Given the description of an element on the screen output the (x, y) to click on. 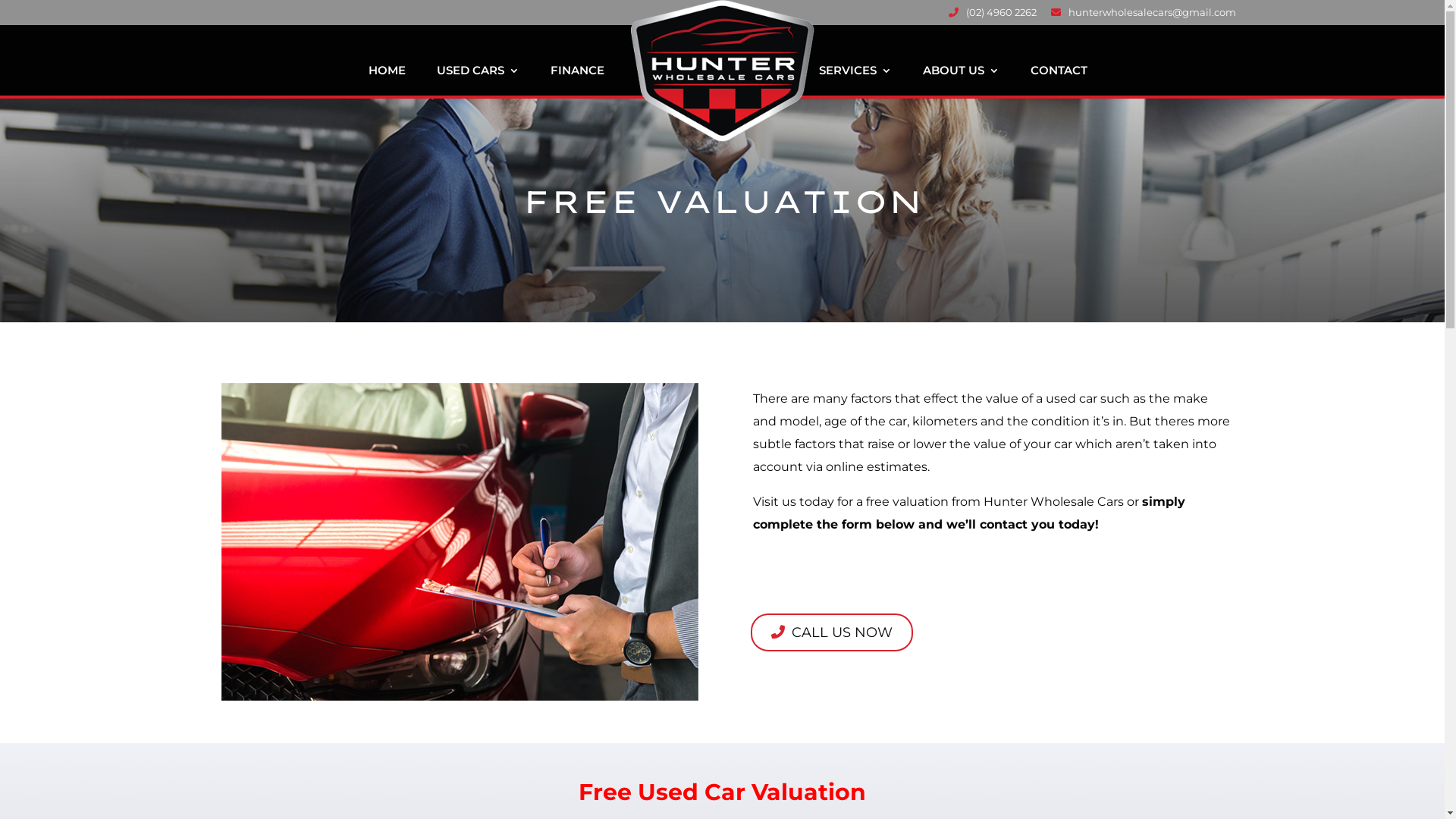
SERVICES Element type: text (855, 82)
USED CARS Element type: text (477, 82)
FINANCE Element type: text (577, 82)
ABOUT US Element type: text (960, 82)
CALL US NOW Element type: text (831, 632)
hunterwholesalecars@gmail.com Element type: text (1143, 16)
(02) 4960 2262 Element type: text (991, 16)
HOME Element type: text (386, 82)
CONTACT Element type: text (1057, 82)
